Given the description of an element on the screen output the (x, y) to click on. 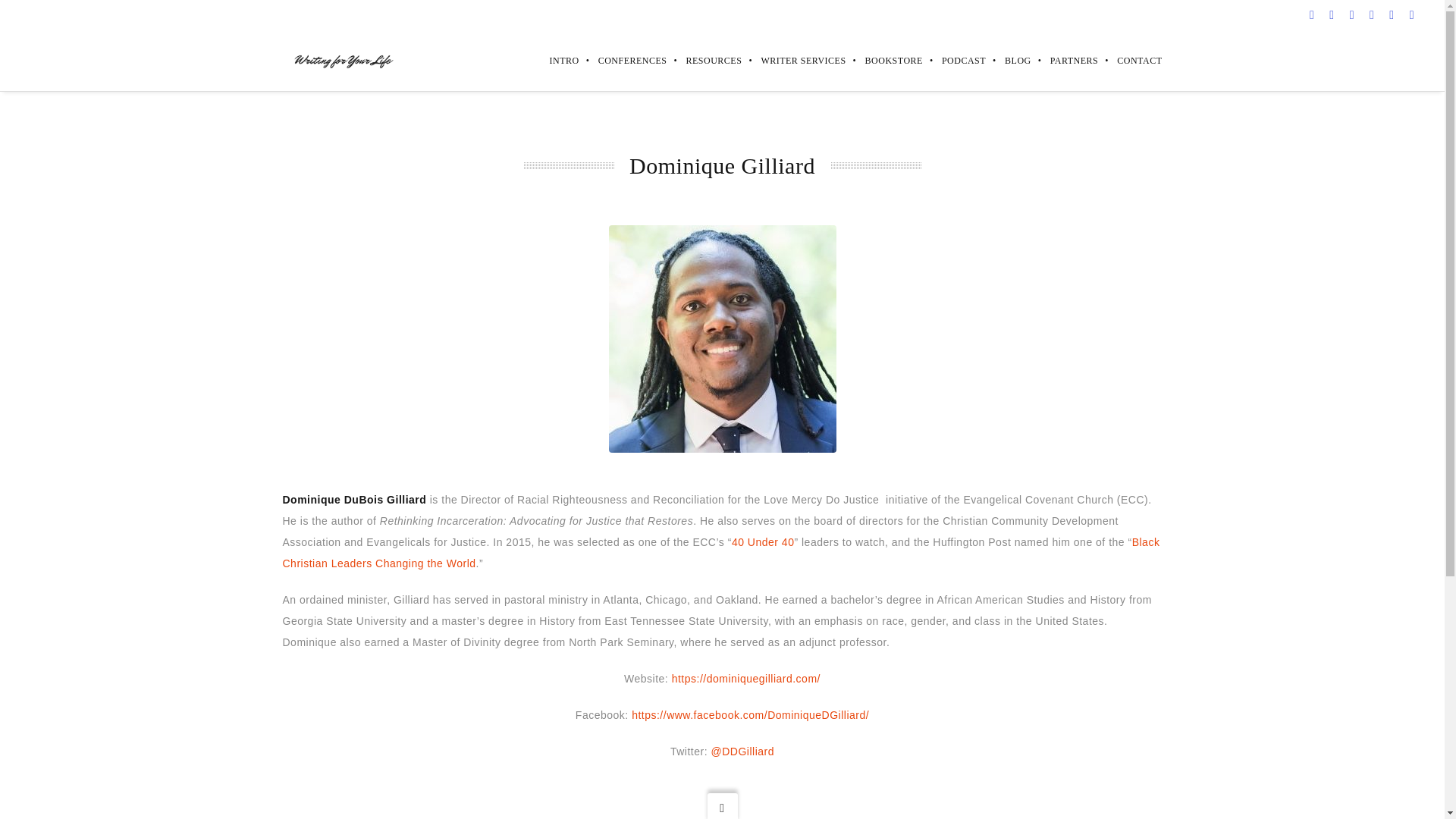
Search (31, 15)
40 Under 40 (763, 541)
Black Christian Leaders Changing the World (720, 551)
PODCAST (954, 60)
Writing for Your Life (341, 60)
PARTNERS (1064, 60)
CONTACT (1129, 60)
WRITER SERVICES (793, 60)
CONFERENCES (622, 60)
RESOURCES (704, 60)
